Given the description of an element on the screen output the (x, y) to click on. 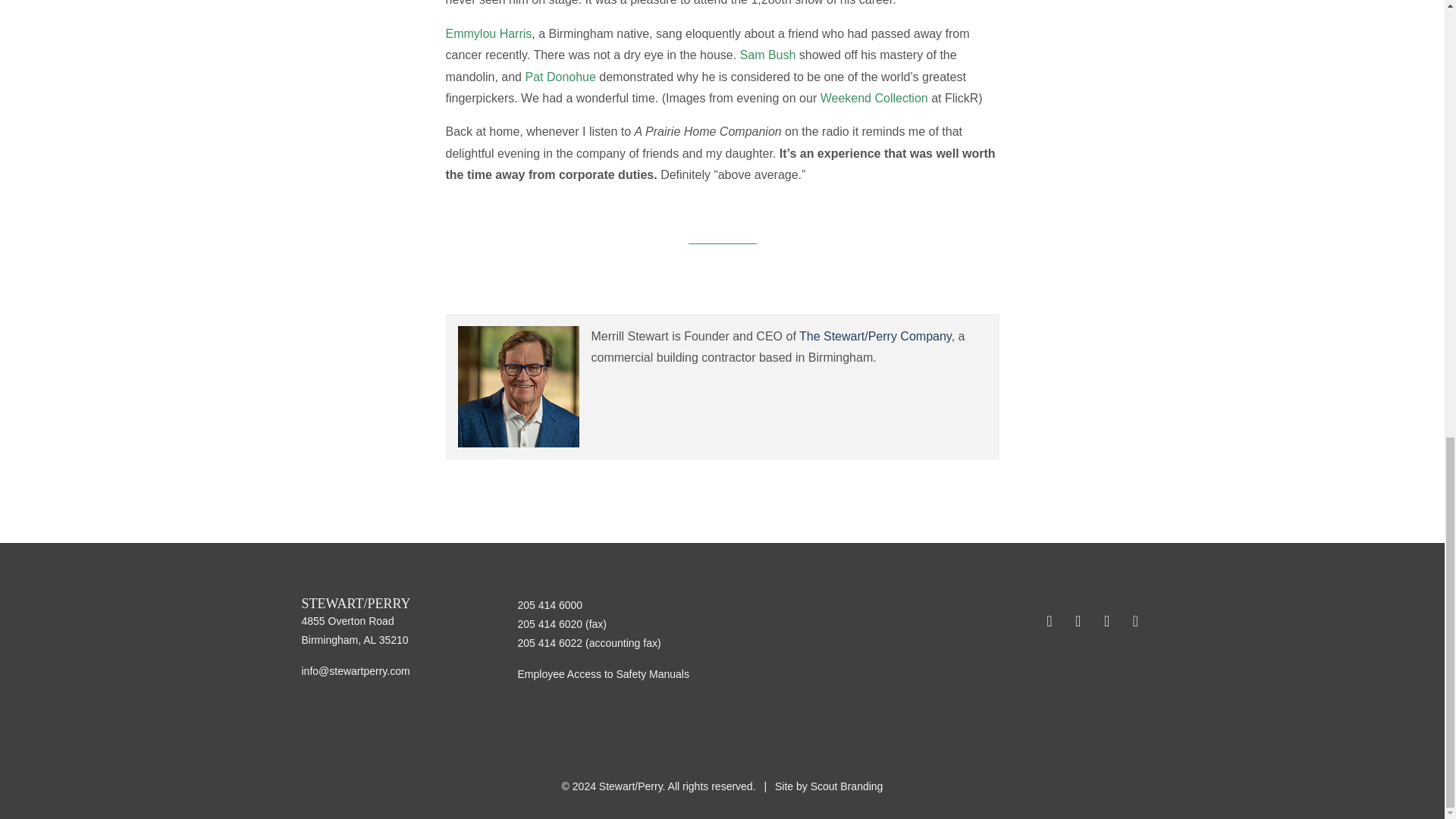
Site by Scout Branding (828, 786)
Weekend Collection (874, 97)
205 414 6000 (549, 604)
Employee Access to Safety Manuals (602, 674)
Award-Winning Branding Agency located in Birmingham, Alabama (828, 786)
Pat Donohue (559, 76)
Emmylou Harris (488, 33)
Sam Bush (767, 54)
